Given the description of an element on the screen output the (x, y) to click on. 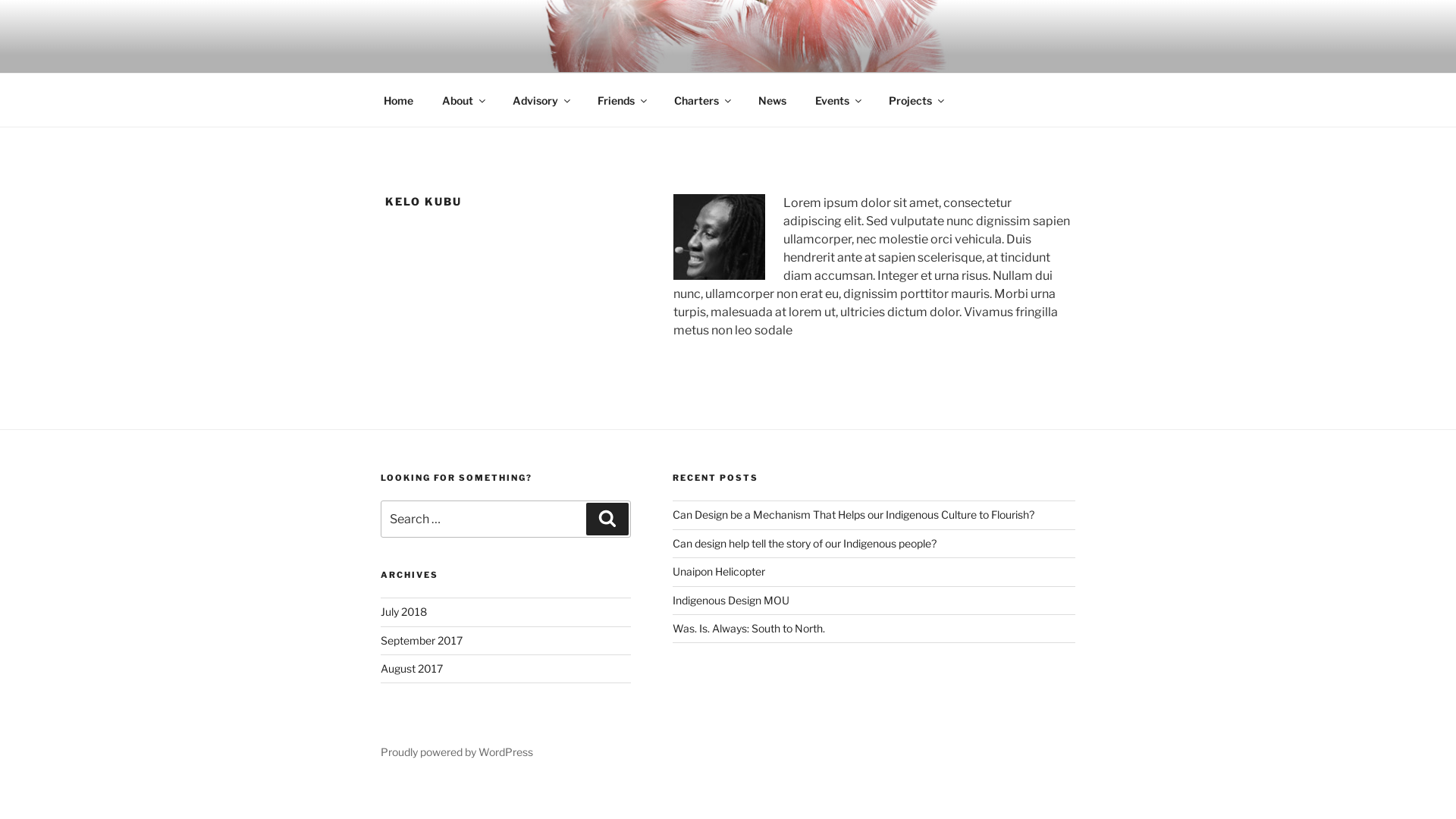
Was. Is. Always: South to North. Element type: text (748, 627)
Friends Element type: text (620, 100)
Charters Element type: text (701, 100)
Advisory Element type: text (539, 100)
News Element type: text (771, 100)
Projects Element type: text (915, 100)
Home Element type: text (398, 100)
About Element type: text (462, 100)
Events Element type: text (836, 100)
INDIGO Element type: text (441, 52)
Can design help tell the story of our Indigenous people? Element type: text (804, 542)
Proudly powered by WordPress Element type: text (456, 751)
Unaipon Helicopter Element type: text (718, 570)
August 2017 Element type: text (411, 668)
September 2017 Element type: text (421, 639)
July 2018 Element type: text (403, 611)
Indigenous Design MOU Element type: text (730, 599)
Search Element type: text (607, 518)
